Given the description of an element on the screen output the (x, y) to click on. 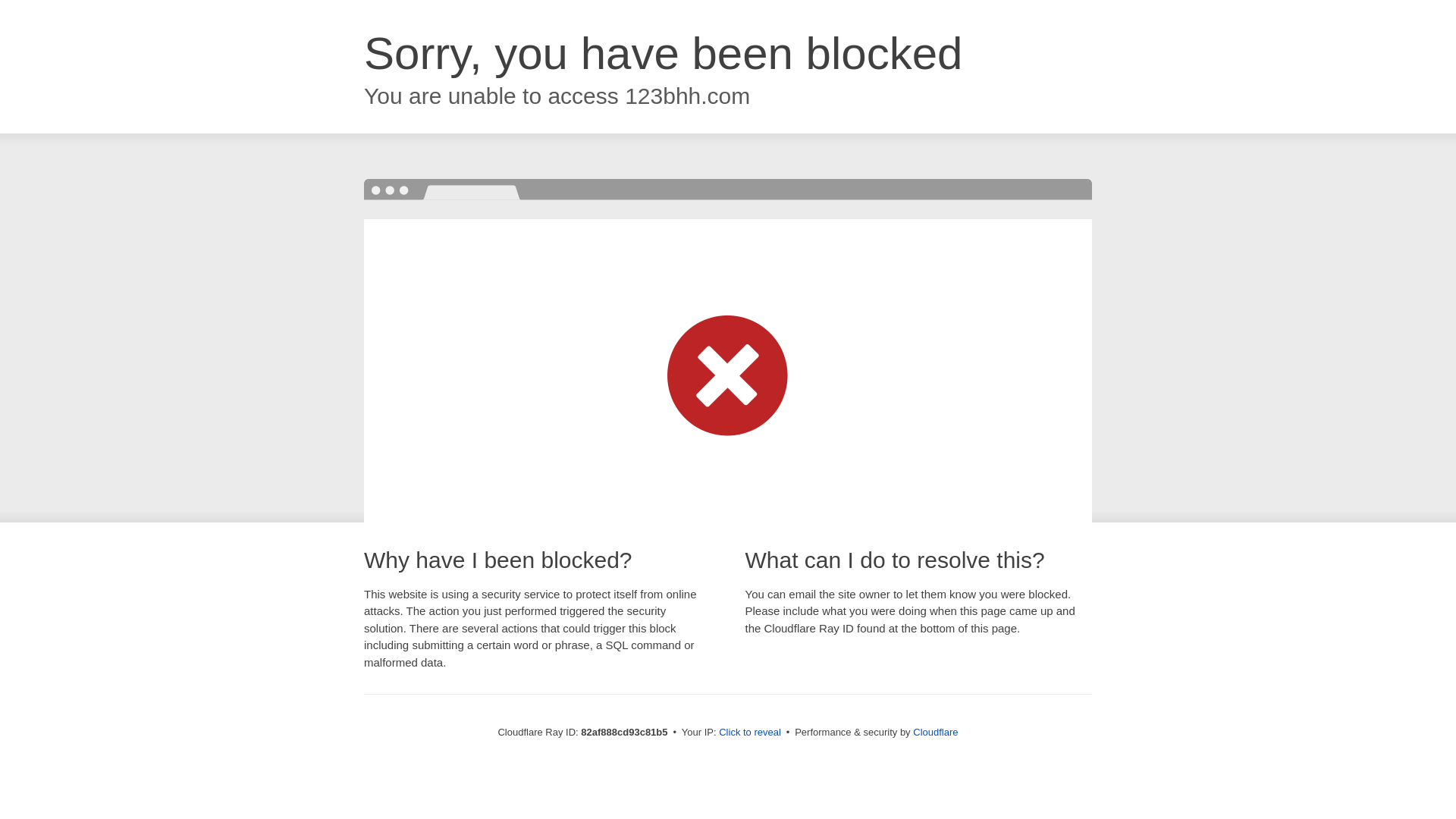
Click to reveal Element type: text (749, 732)
Cloudflare Element type: text (935, 731)
